Given the description of an element on the screen output the (x, y) to click on. 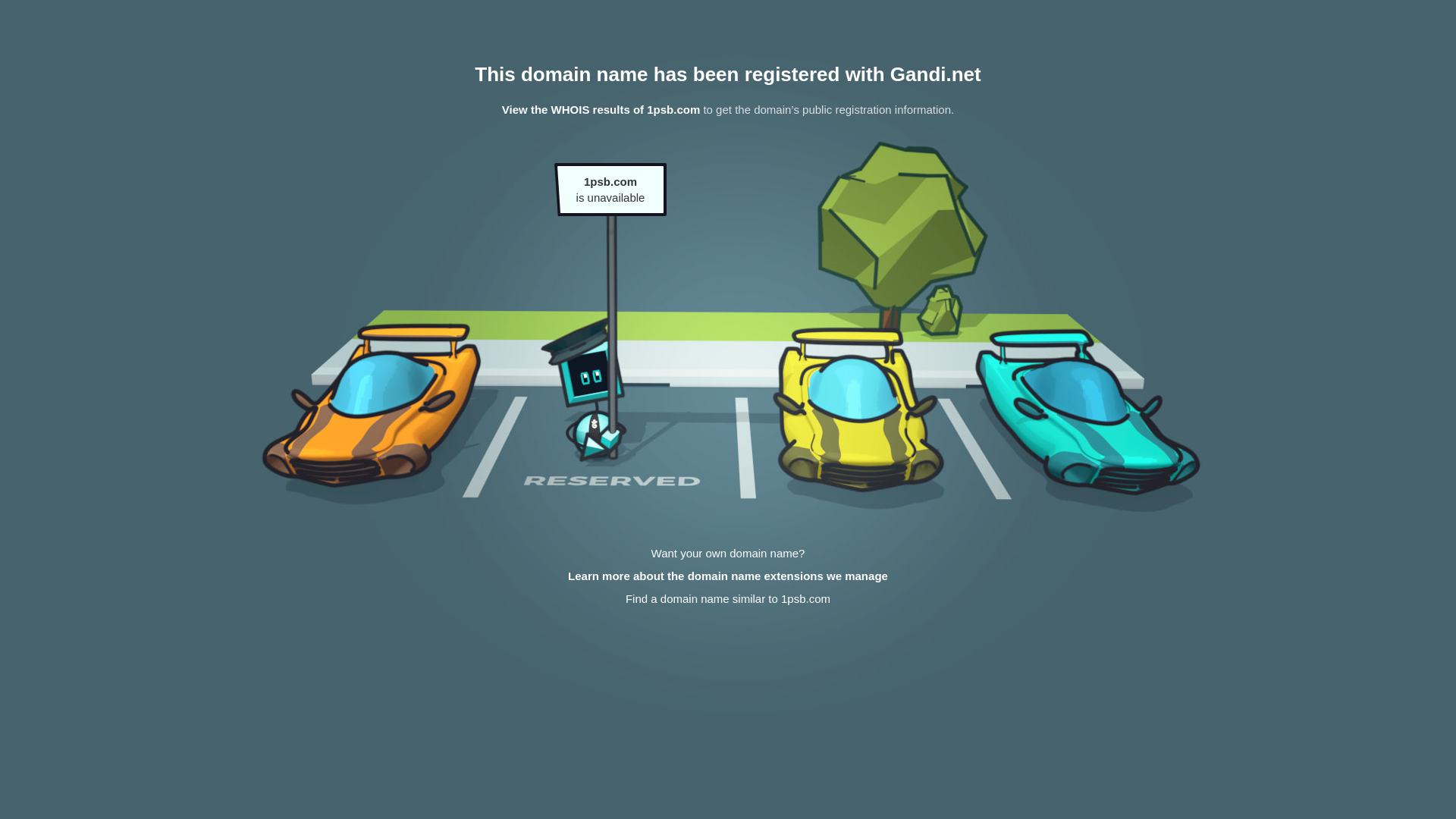
Learn more about the domain name extensions we manage Element type: text (727, 575)
Find a domain name similar to 1psb.com Element type: text (727, 598)
View the WHOIS results of 1psb.com Element type: text (600, 109)
